Given the description of an element on the screen output the (x, y) to click on. 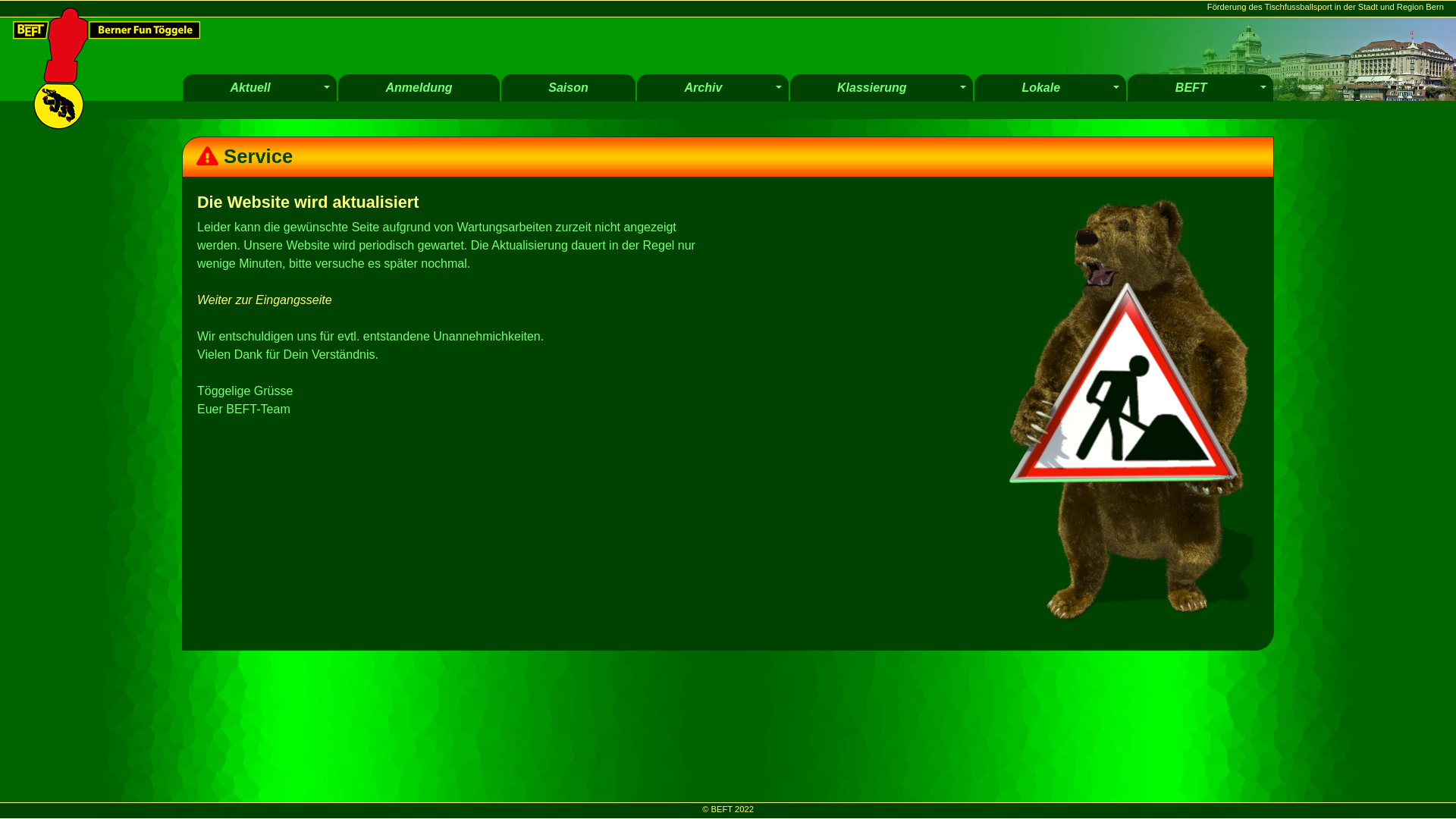
Saison Element type: text (568, 87)
Archiv Element type: text (703, 87)
Aktuell Element type: text (249, 87)
Weiter zur Eingangsseite Element type: text (264, 299)
BEFT Element type: text (1190, 87)
Klassierung Element type: text (871, 87)
Lokale Element type: text (1040, 87)
Anmeldung Element type: text (418, 87)
